Given the description of an element on the screen output the (x, y) to click on. 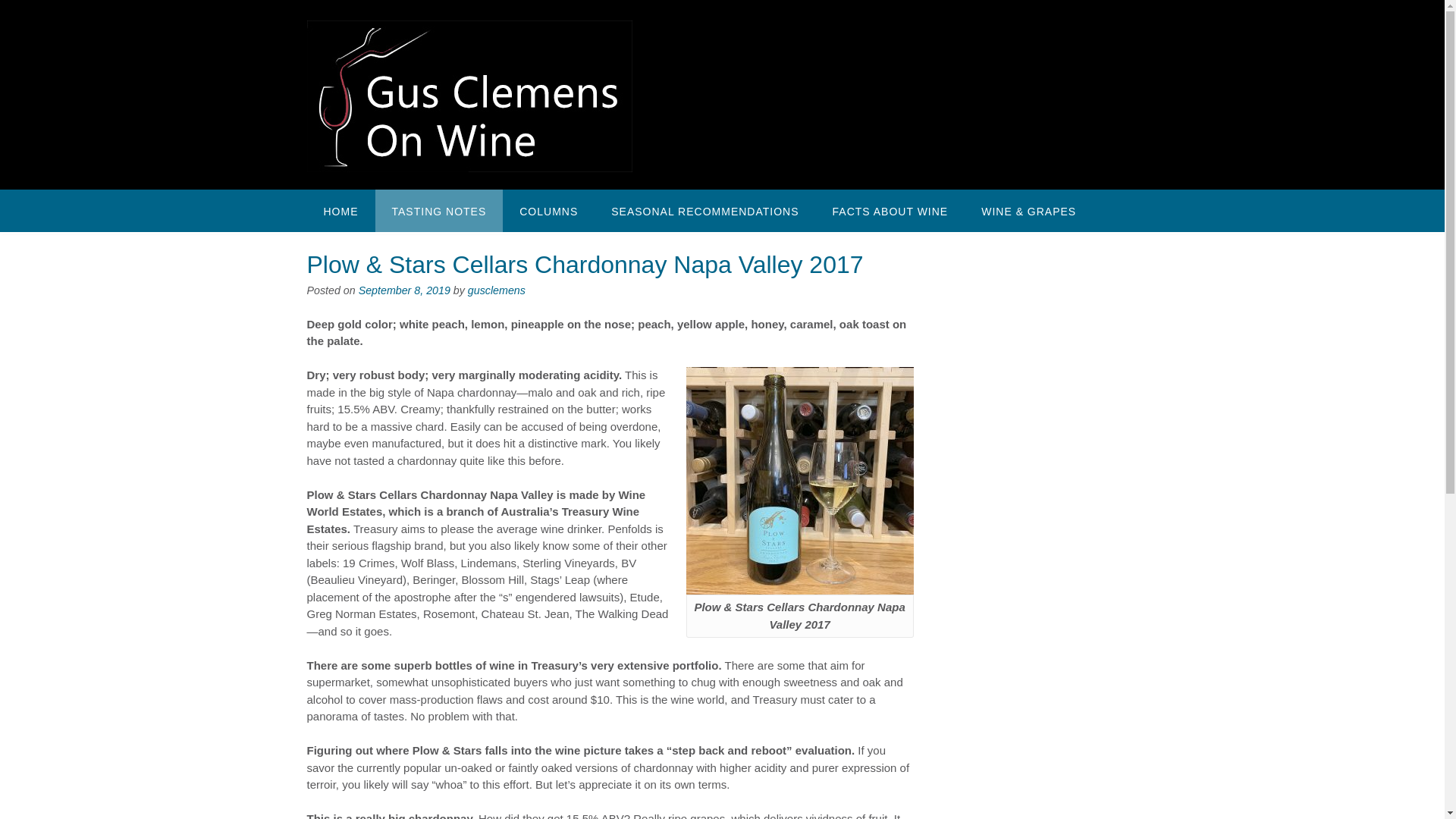
TASTING NOTES (438, 210)
HOME (339, 210)
gusclemens (496, 290)
FACTS ABOUT WINE (890, 210)
SEASONAL RECOMMENDATIONS (704, 210)
September 8, 2019 (403, 290)
COLUMNS (548, 210)
